Given the description of an element on the screen output the (x, y) to click on. 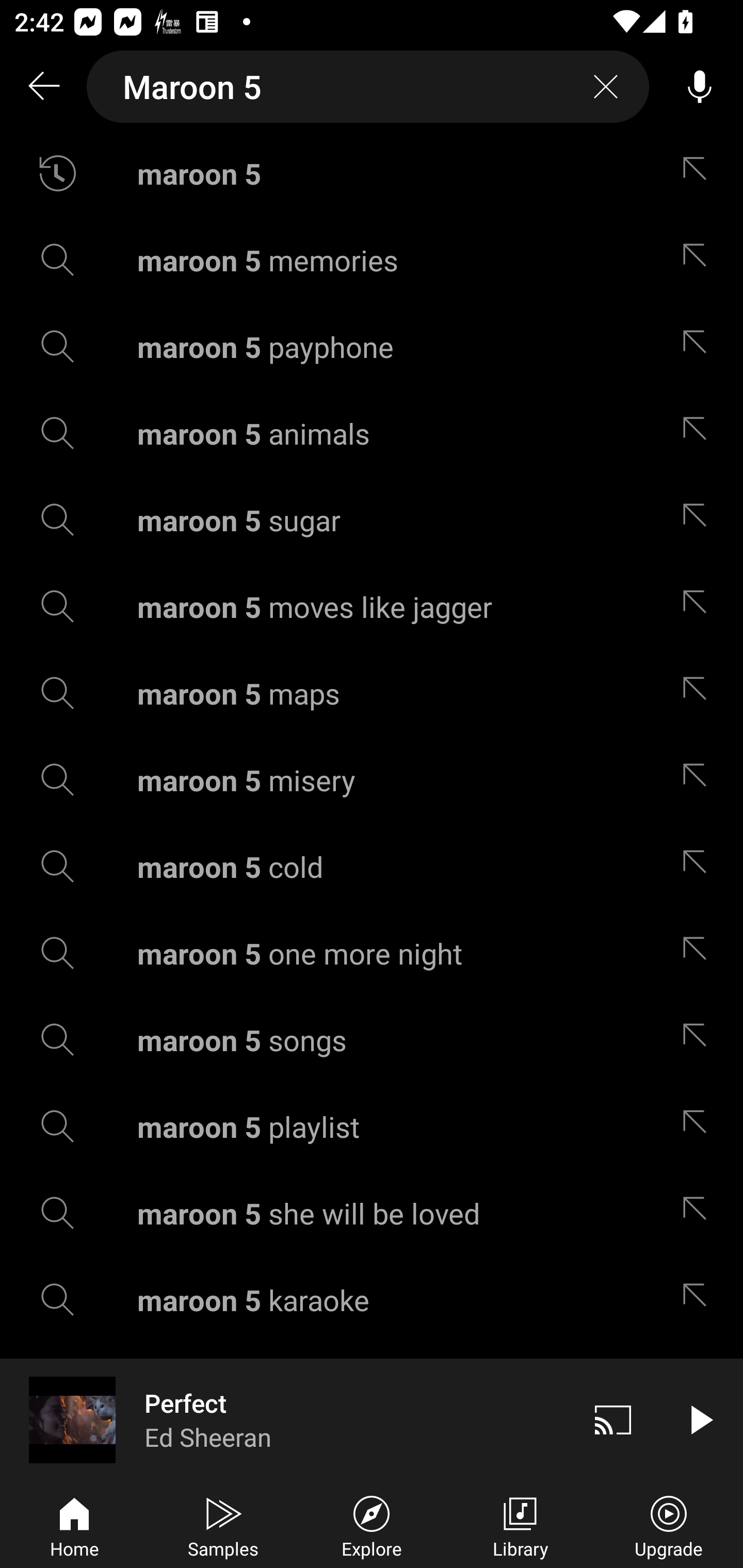
Search back (43, 86)
Maroon 5 (367, 86)
Clear search (605, 86)
Voice search (699, 86)
maroon 5 Edit suggestion maroon 5 (371, 173)
Edit suggestion maroon 5 (699, 173)
Edit suggestion maroon 5 memories (699, 259)
Edit suggestion maroon 5 payphone (699, 346)
maroon 5 animals Edit suggestion maroon 5 animals (371, 433)
Edit suggestion maroon 5 animals (699, 433)
maroon 5 sugar Edit suggestion maroon 5 sugar (371, 519)
Edit suggestion maroon 5 sugar (699, 519)
Edit suggestion maroon 5 moves like jagger (699, 605)
maroon 5 maps Edit suggestion maroon 5 maps (371, 692)
Edit suggestion maroon 5 maps (699, 692)
maroon 5 misery Edit suggestion maroon 5 misery (371, 779)
Edit suggestion maroon 5 misery (699, 779)
maroon 5 cold Edit suggestion maroon 5 cold (371, 866)
Edit suggestion maroon 5 cold (699, 866)
Edit suggestion maroon 5 one more night (699, 953)
maroon 5 songs Edit suggestion maroon 5 songs (371, 1040)
Edit suggestion maroon 5 songs (699, 1040)
Edit suggestion maroon 5 playlist (699, 1126)
Edit suggestion maroon 5 she will be loved (699, 1212)
maroon 5 karaoke Edit suggestion maroon 5 karaoke (371, 1299)
Edit suggestion maroon 5 karaoke (699, 1299)
Perfect Ed Sheeran (284, 1419)
Cast. Disconnected (612, 1419)
Play video (699, 1419)
Home (74, 1524)
Samples (222, 1524)
Explore (371, 1524)
Library (519, 1524)
Upgrade (668, 1524)
